Given the description of an element on the screen output the (x, y) to click on. 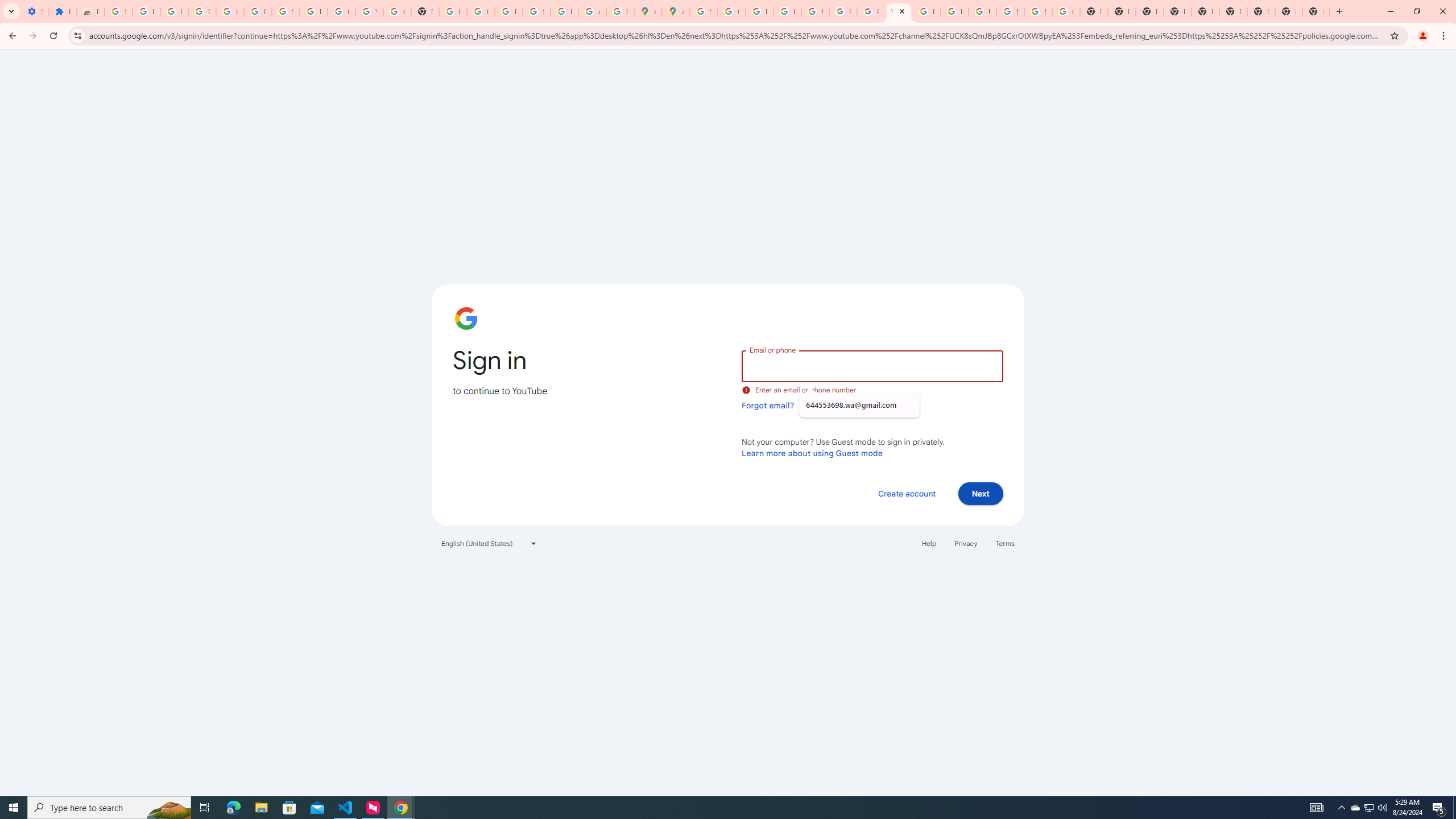
Delete photos & videos - Computer - Google Photos Help (202, 11)
Sign in - Google Accounts (118, 11)
Settings - On startup (34, 11)
Next (980, 493)
Learn more about using Guest mode (812, 452)
Forgot email? (767, 404)
Email or phone (871, 365)
Create account (905, 493)
